Given the description of an element on the screen output the (x, y) to click on. 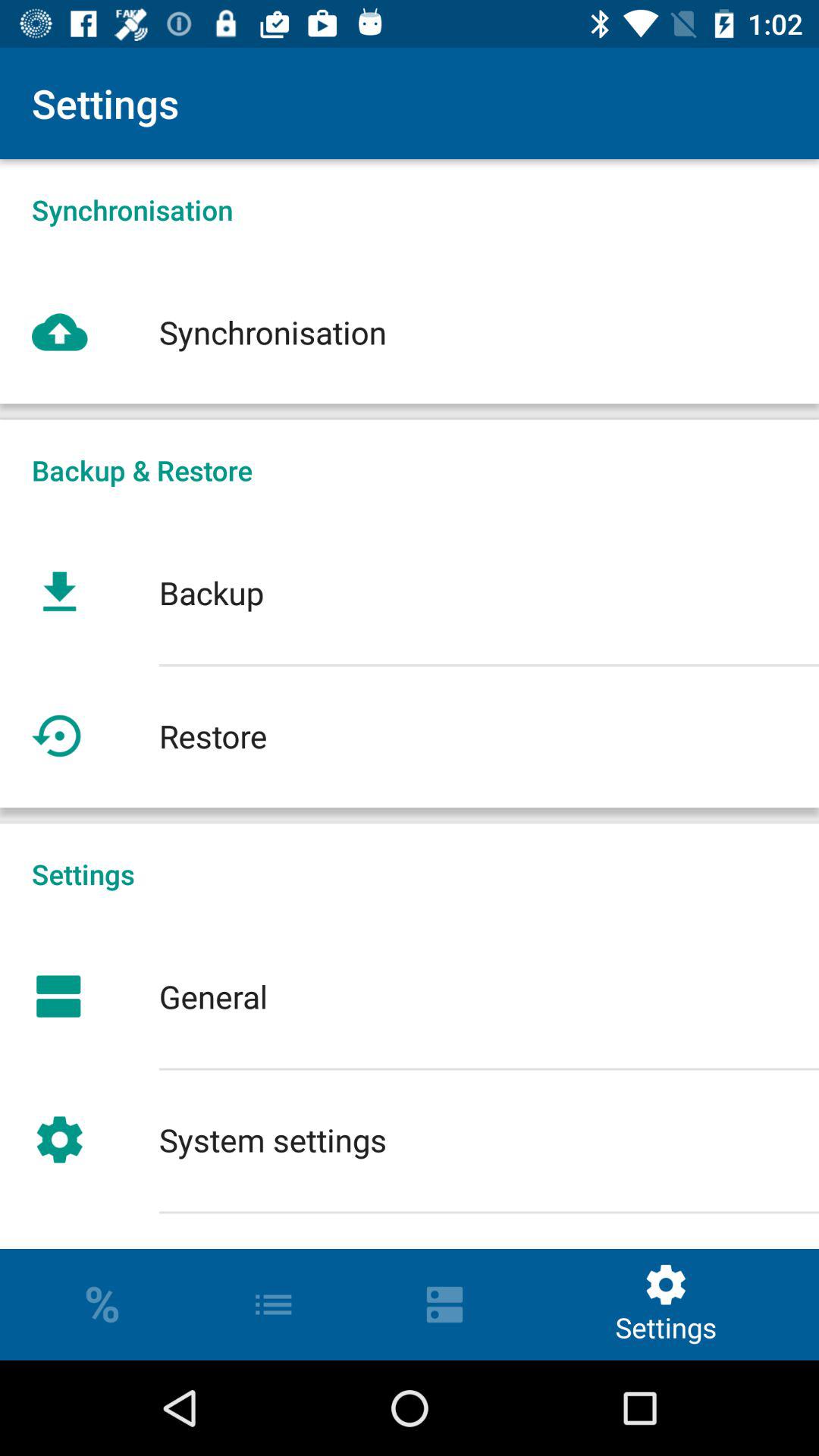
launch sort order settings icon (409, 1229)
